Given the description of an element on the screen output the (x, y) to click on. 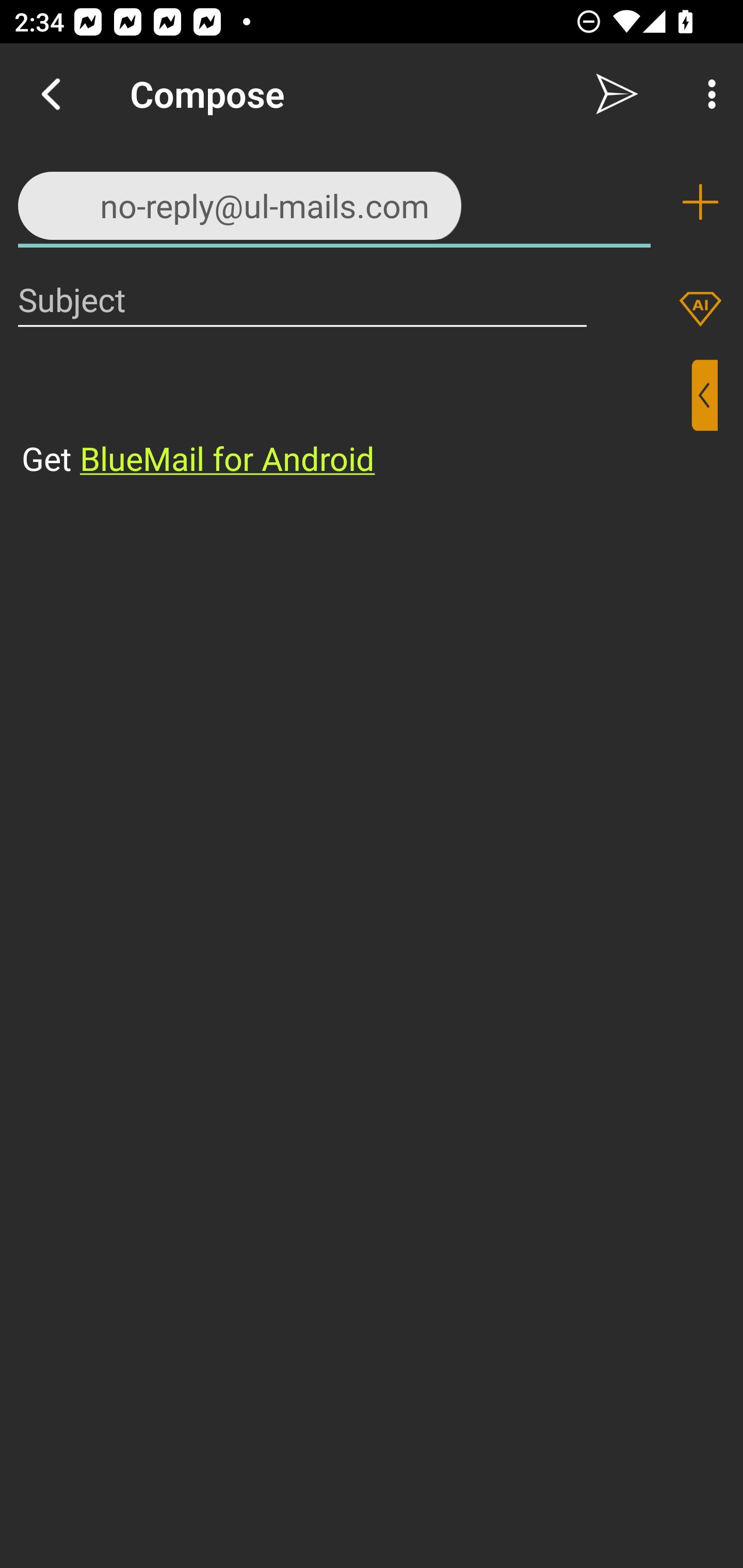
Navigate up (50, 93)
Send (616, 93)
More Options (706, 93)
<no-reply@ul-mails.com>,  (334, 201)
Add recipient (To) (699, 201)
Subject (302, 299)


⁣Get BlueMail for Android ​ (355, 419)
